Given the description of an element on the screen output the (x, y) to click on. 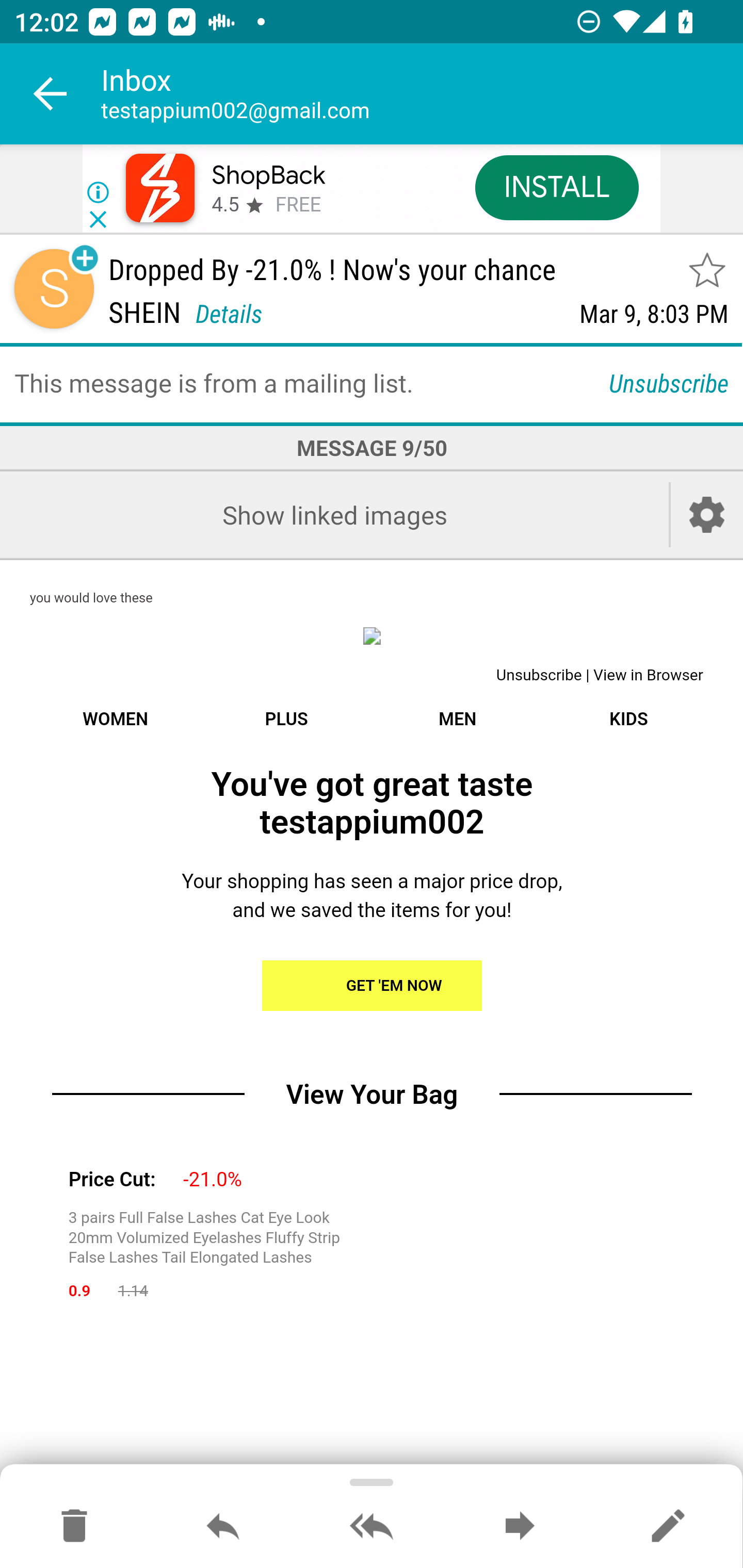
Navigate up (50, 93)
Inbox testappium002@gmail.com (422, 93)
INSTALL (556, 187)
ShopBack (268, 175)
Sender contact button (53, 289)
Unsubscribe (668, 382)
Show linked images (334, 514)
Account setup (706, 514)
you would love these (90, 598)
shein (371, 635)
Unsubscribe (538, 675)
View in Browser (648, 675)
WOMEN (114, 718)
PLUS (285, 718)
MEN (456, 718)
KIDS (627, 718)
Price Cut: (111, 1180)
-21.0% (212, 1180)
0.9 (79, 1291)
Move to Deleted (74, 1527)
Reply (222, 1527)
Reply all (371, 1527)
Forward (519, 1527)
Reply as new (667, 1527)
